Given the description of an element on the screen output the (x, y) to click on. 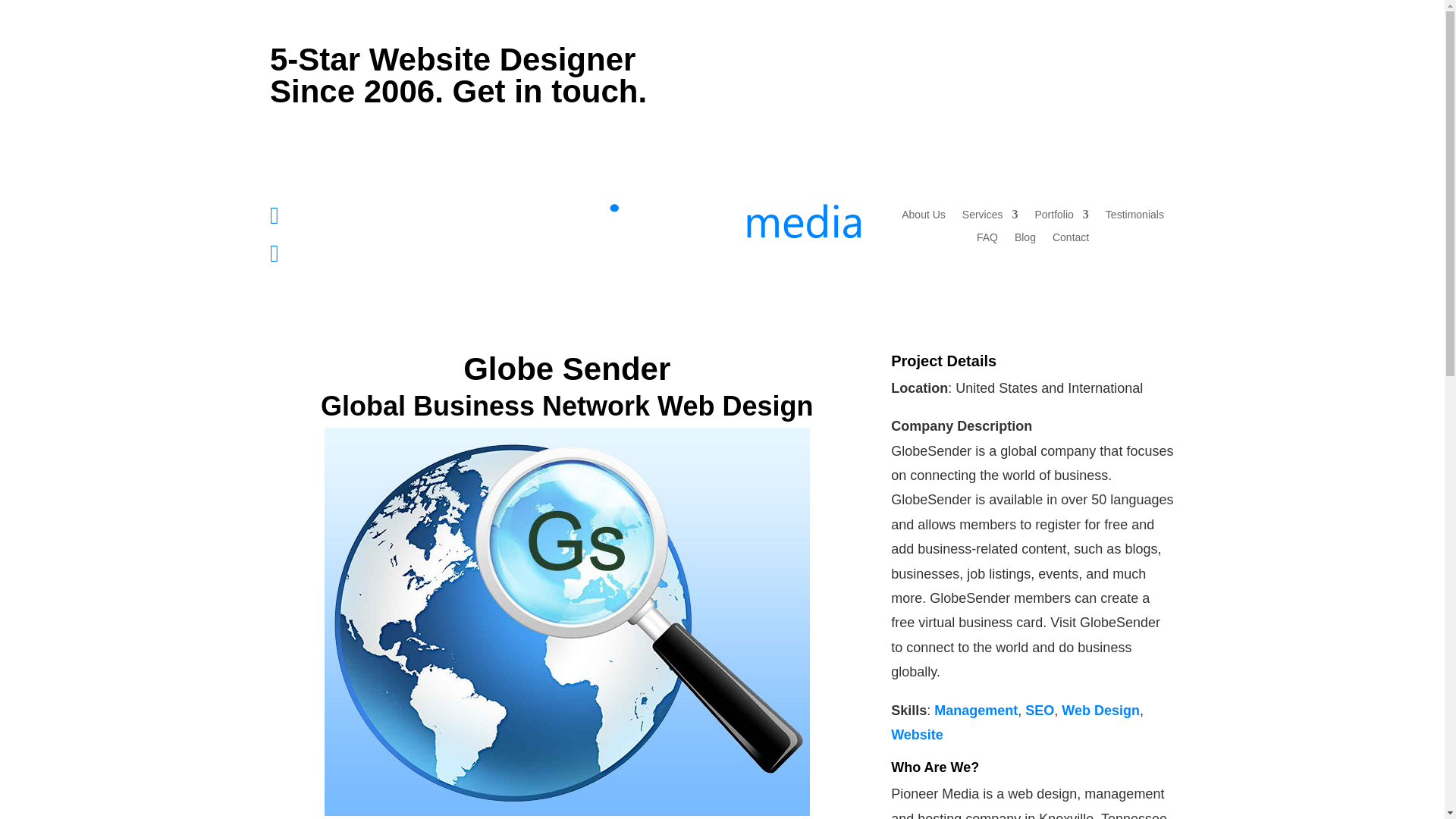
Contact (1070, 239)
Follow on LinkedIn (1131, 55)
Follow on Facebook (1071, 55)
About Us (922, 217)
Blog (1024, 239)
Website (917, 734)
Web Design (1100, 710)
Management (975, 710)
Services (989, 217)
Portfolio (1060, 217)
